Given the description of an element on the screen output the (x, y) to click on. 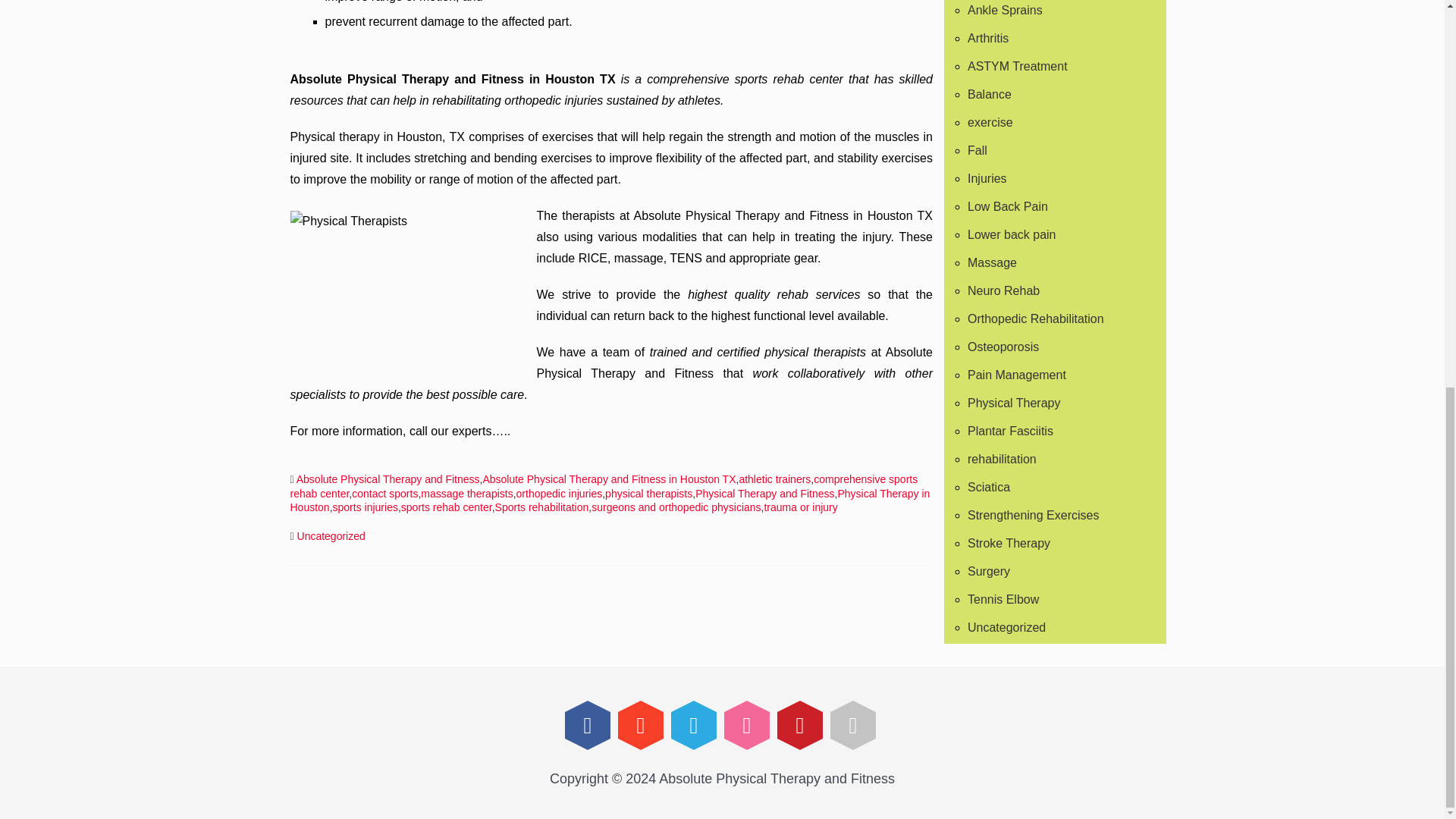
Absolute Physical Therapy and Fitness in Houston TX (608, 479)
contact sports (384, 493)
comprehensive sports rehab center (603, 486)
Absolute Physical Therapy and Fitness (388, 479)
athletic trainers (774, 479)
massage therapists (466, 493)
